Given the description of an element on the screen output the (x, y) to click on. 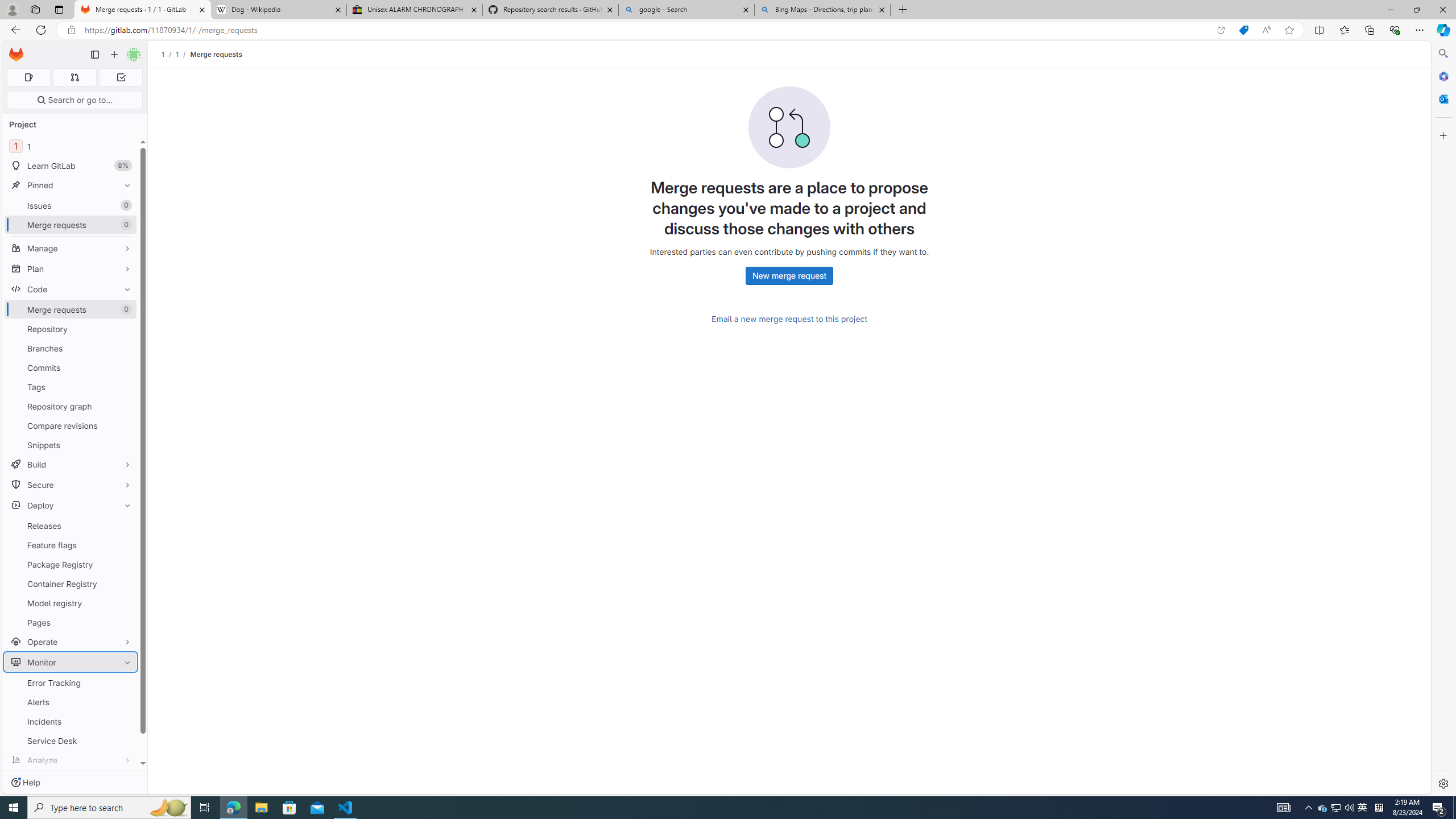
Issues0 (70, 205)
Create new... (113, 54)
Package Registry (70, 564)
Releases (70, 525)
Pin Repository graph (124, 406)
Secure (70, 484)
Commits (70, 367)
